Given the description of an element on the screen output the (x, y) to click on. 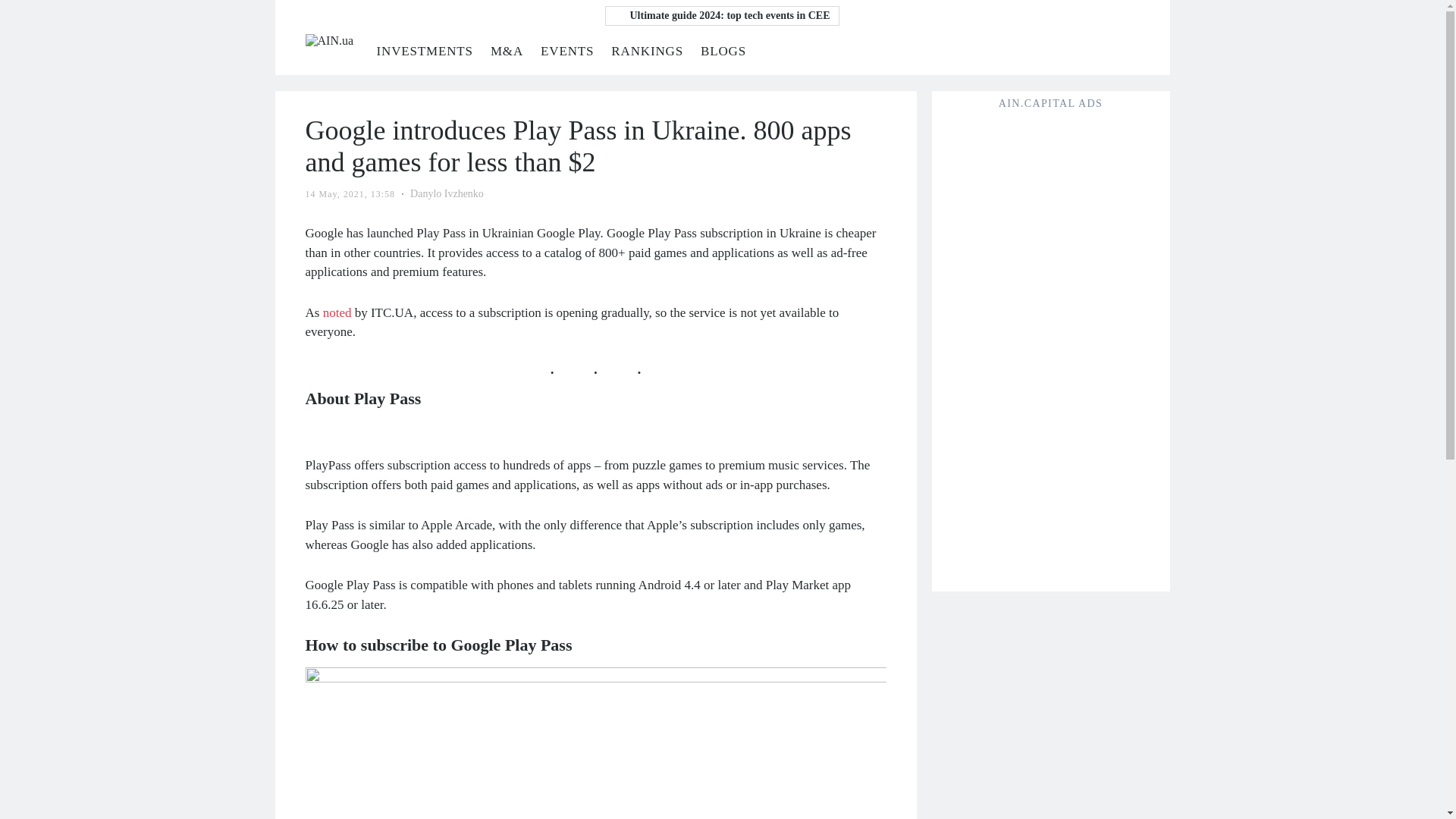
EVENTS (567, 51)
Ultimate guide 2024: top tech events in CEE (721, 15)
INVESTMENTS (423, 51)
RANKINGS (646, 51)
BLOGS (722, 51)
